Given the description of an element on the screen output the (x, y) to click on. 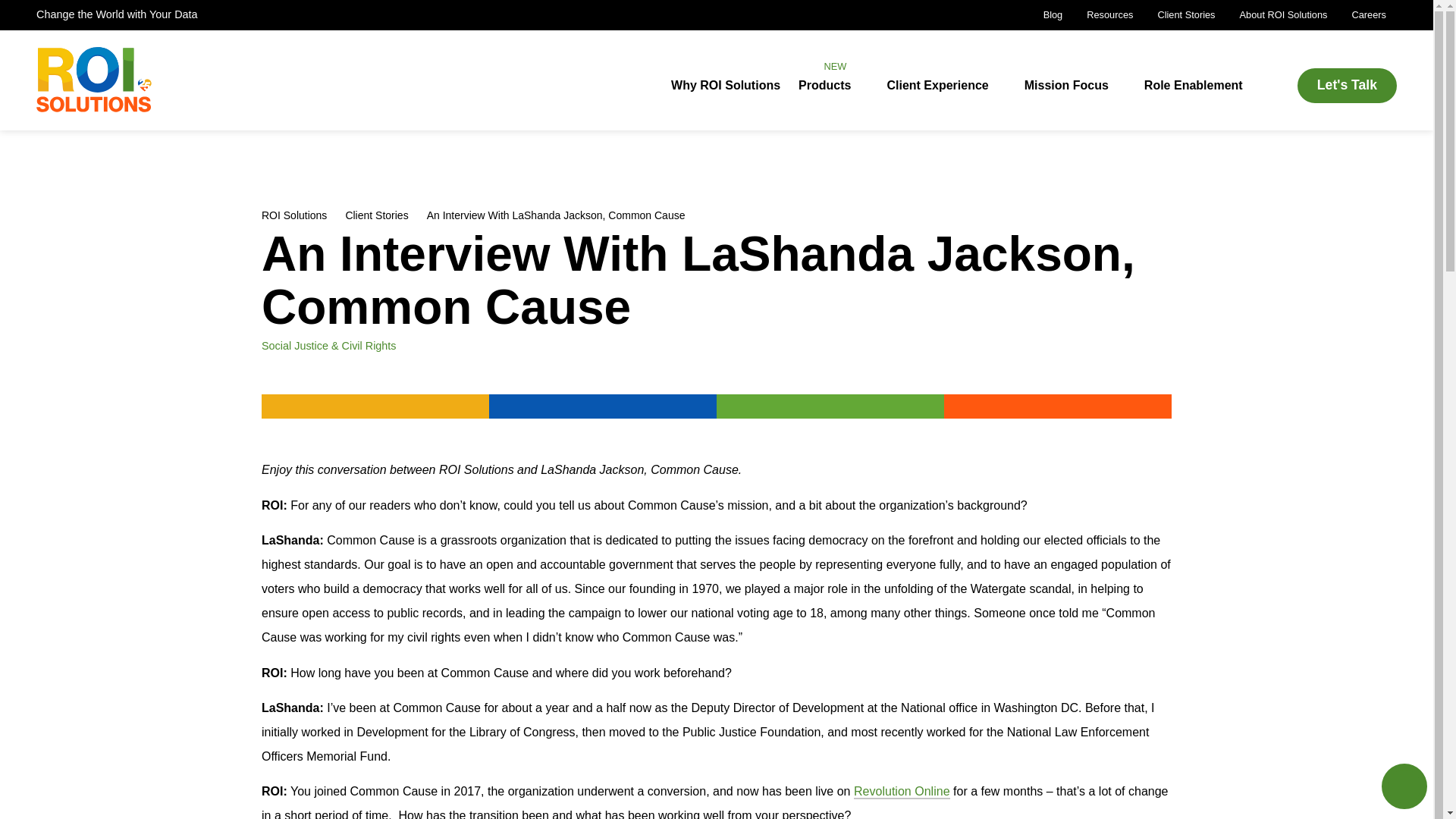
Client Stories (823, 85)
About ROI Solutions (376, 215)
Why ROI Solutions (1283, 14)
Client Stories (725, 85)
Change the World with Your Data (1186, 14)
Blog (117, 14)
ROI Solutions (1053, 14)
Resources (294, 215)
Careers (1108, 14)
